Given the description of an element on the screen output the (x, y) to click on. 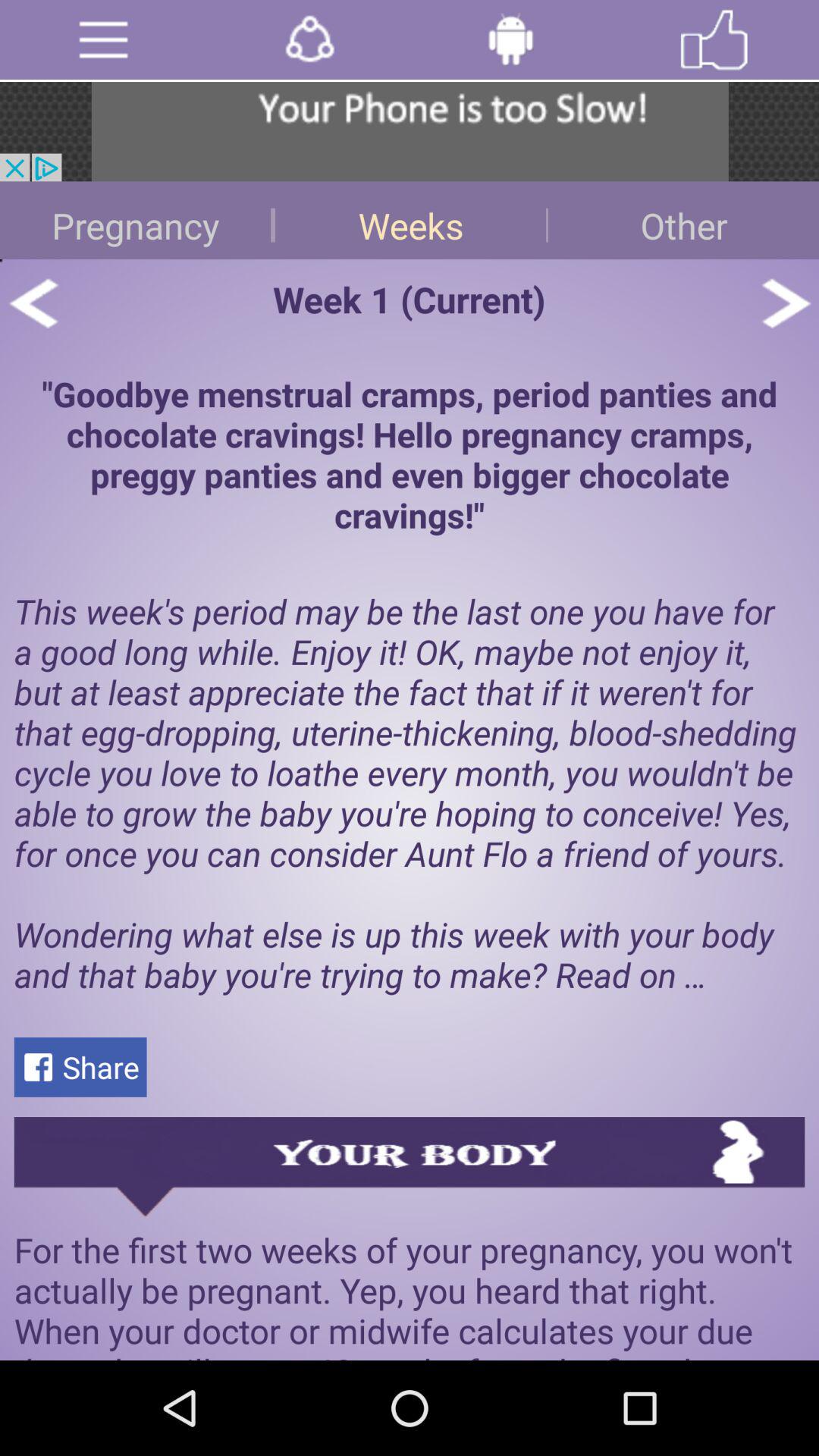
go to next (785, 302)
